Given the description of an element on the screen output the (x, y) to click on. 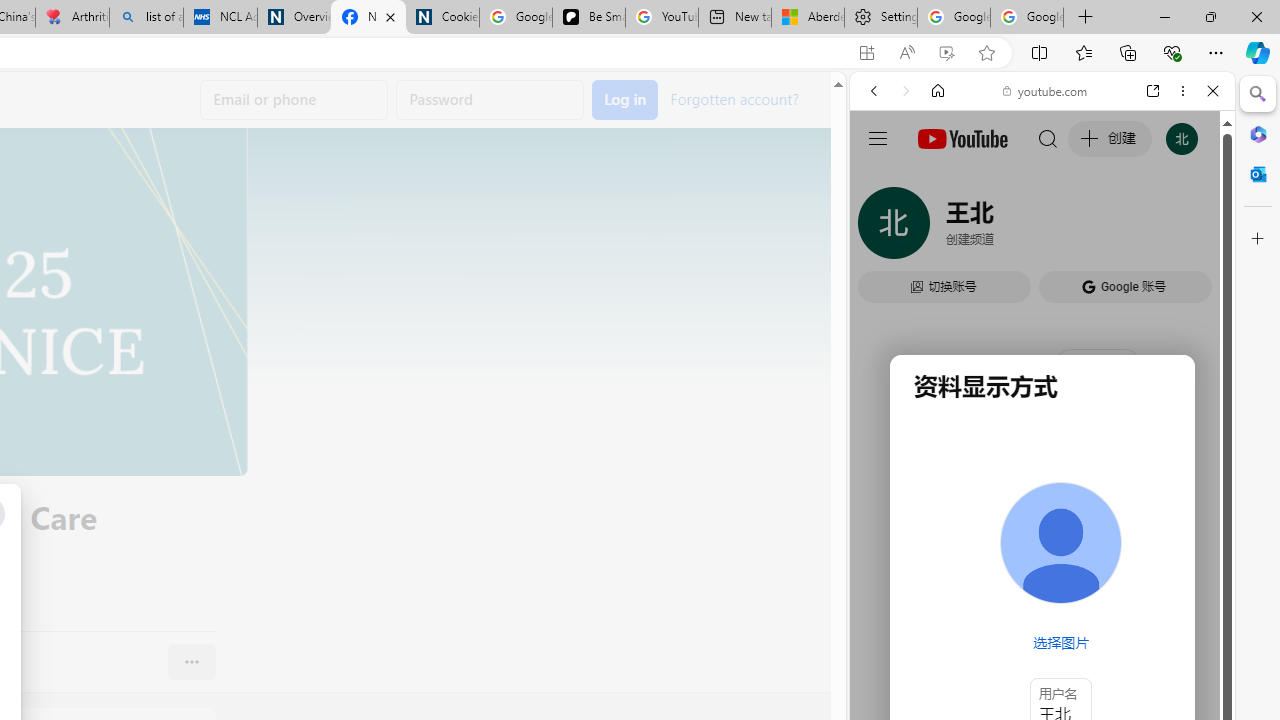
Enhance video (946, 53)
